Given the description of an element on the screen output the (x, y) to click on. 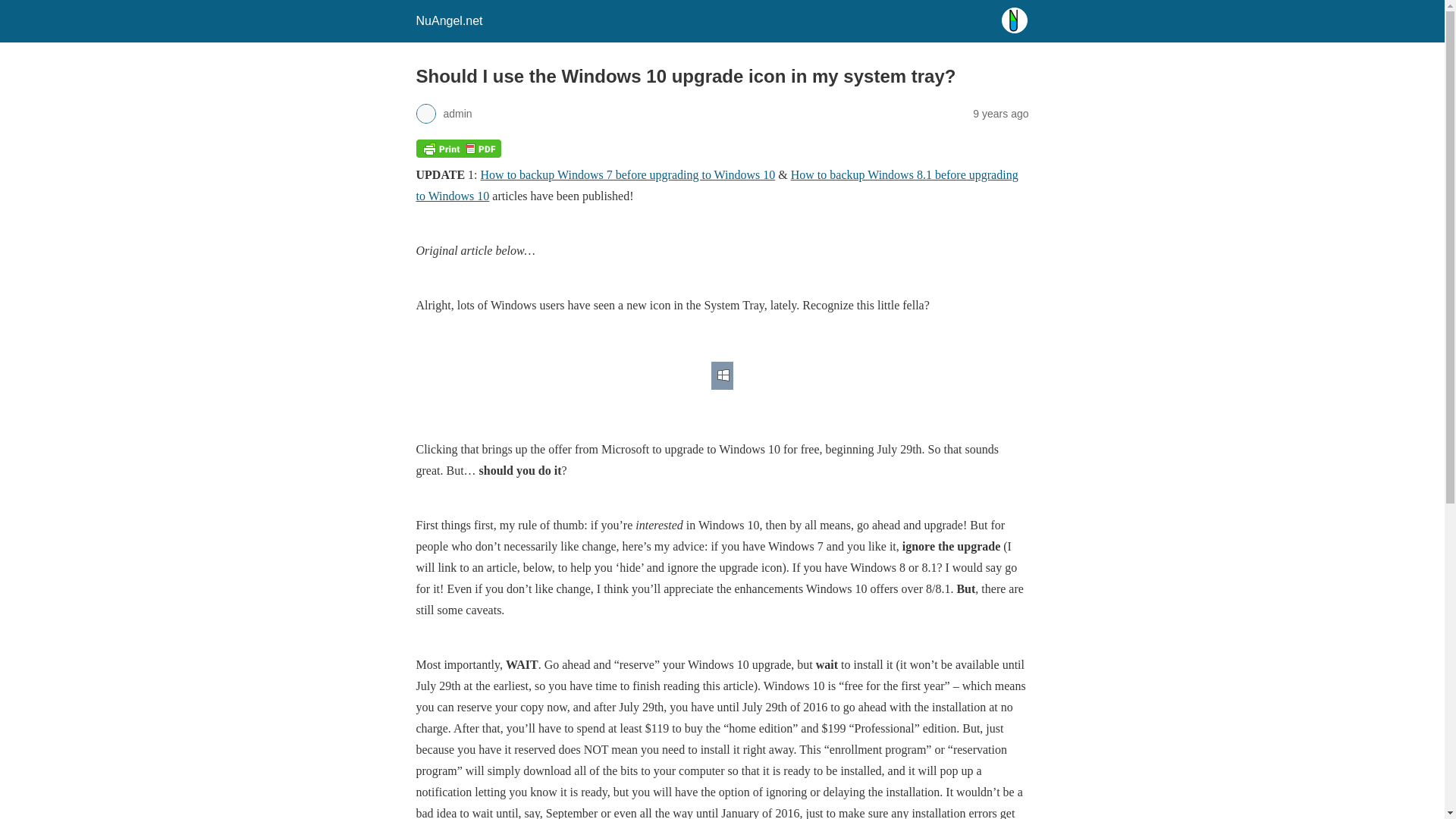
How to backup Windows 7 before upgrading to Windows 10 (628, 174)
NuAngel.net (447, 20)
How to backup Windows 8.1 before upgrading to Windows 10 (715, 185)
